Given the description of an element on the screen output the (x, y) to click on. 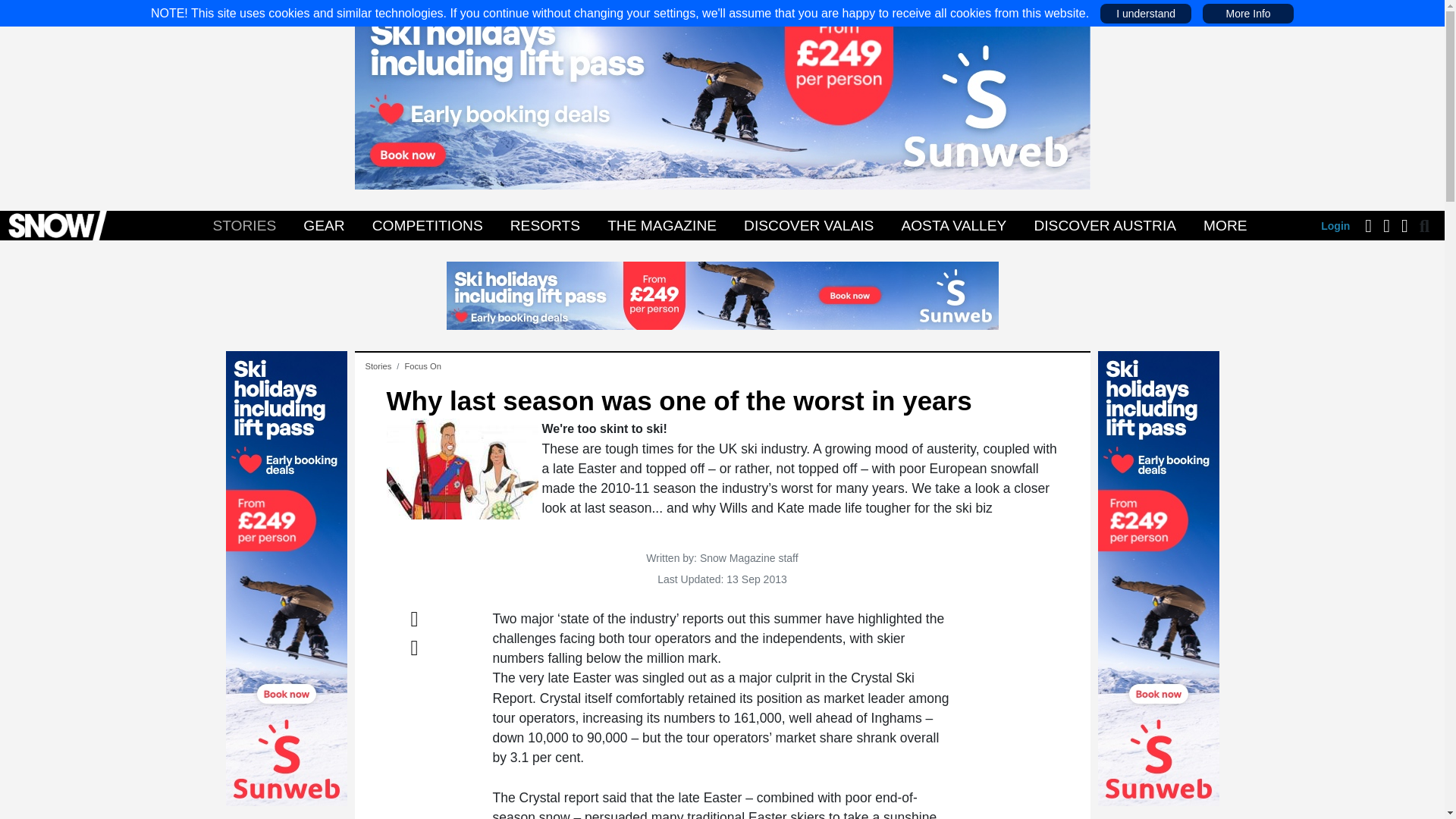
Sunweb leaderboard July 24 (721, 294)
THE MAGAZINE (662, 225)
Login (1334, 225)
RESORTS (544, 225)
COMPETITIONS (427, 225)
STORIES (243, 225)
Sunweb outside right July 24 (1158, 577)
AOSTA VALLEY (953, 225)
Stories (378, 366)
Sunweb outside left July 24 (286, 577)
